Given the description of an element on the screen output the (x, y) to click on. 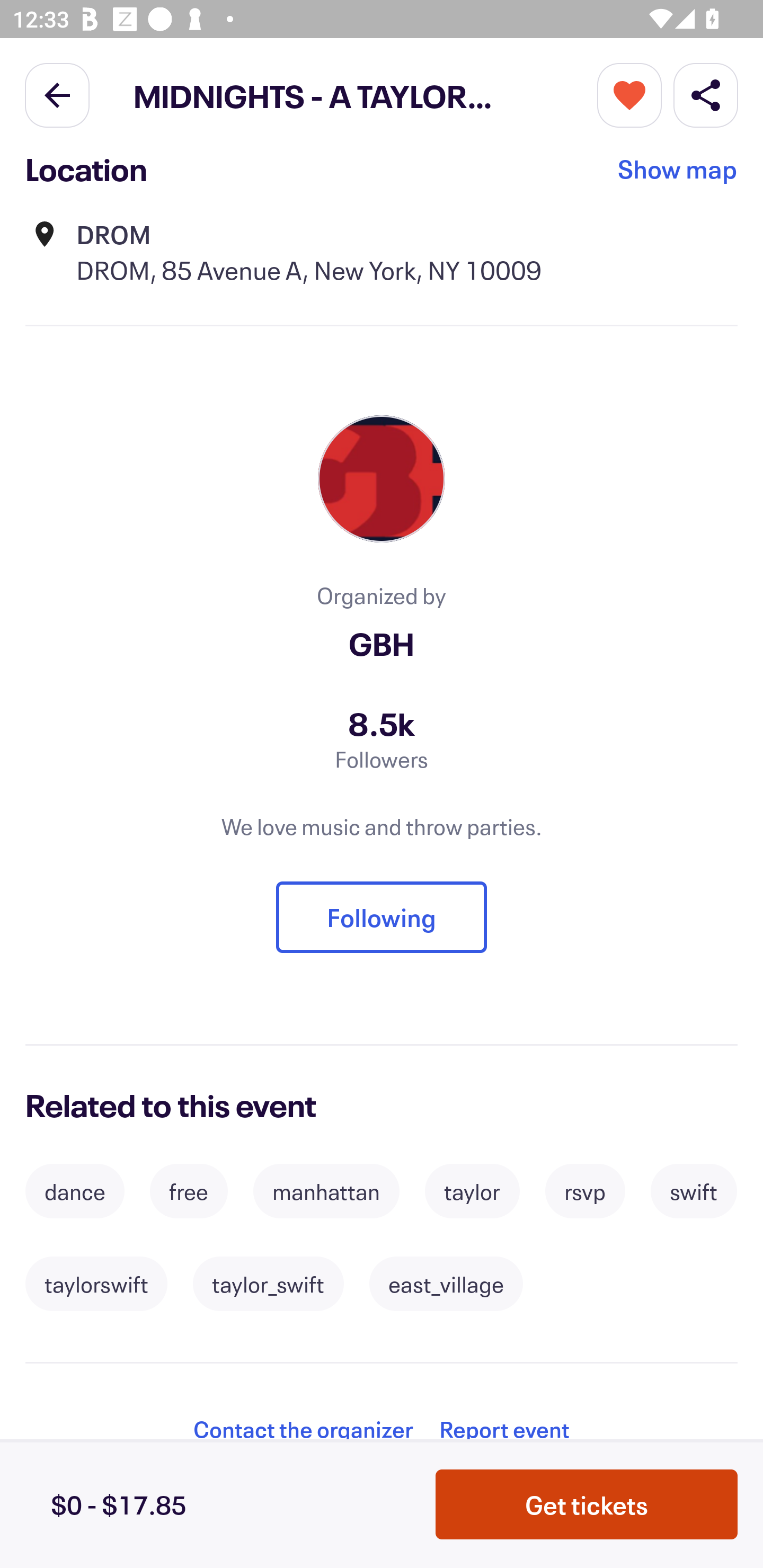
Back (57, 94)
More (629, 94)
Share (705, 94)
Show map (677, 172)
Organizer profile picture (381, 478)
GBH (381, 643)
Following (381, 916)
dance (74, 1190)
free (189, 1190)
manhattan (326, 1190)
taylor (471, 1190)
rsvp (584, 1190)
swift (693, 1190)
taylorswift (96, 1283)
taylor_swift (268, 1283)
east_village (445, 1283)
Contact the organizer (303, 1428)
Report event (504, 1428)
Get tickets (586, 1504)
